Given the description of an element on the screen output the (x, y) to click on. 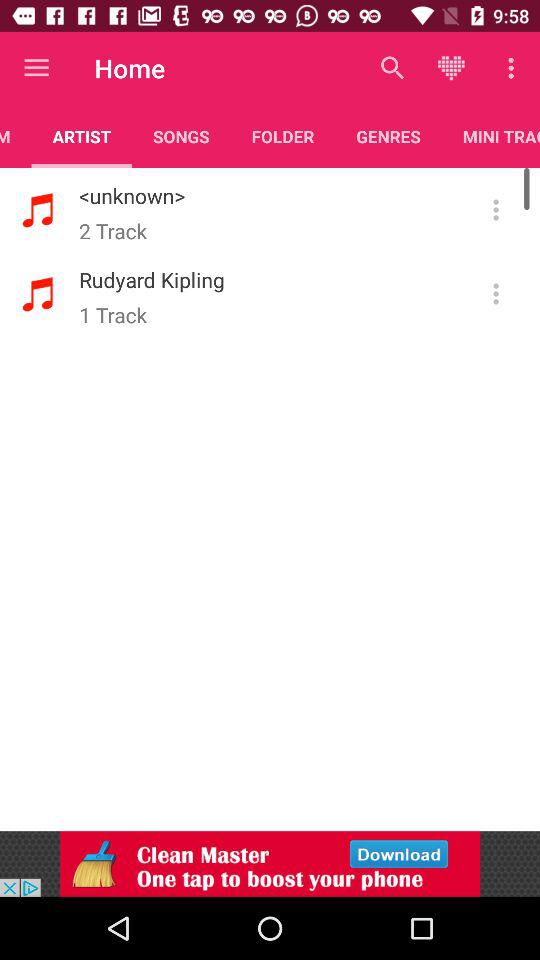
click for option (495, 293)
